Given the description of an element on the screen output the (x, y) to click on. 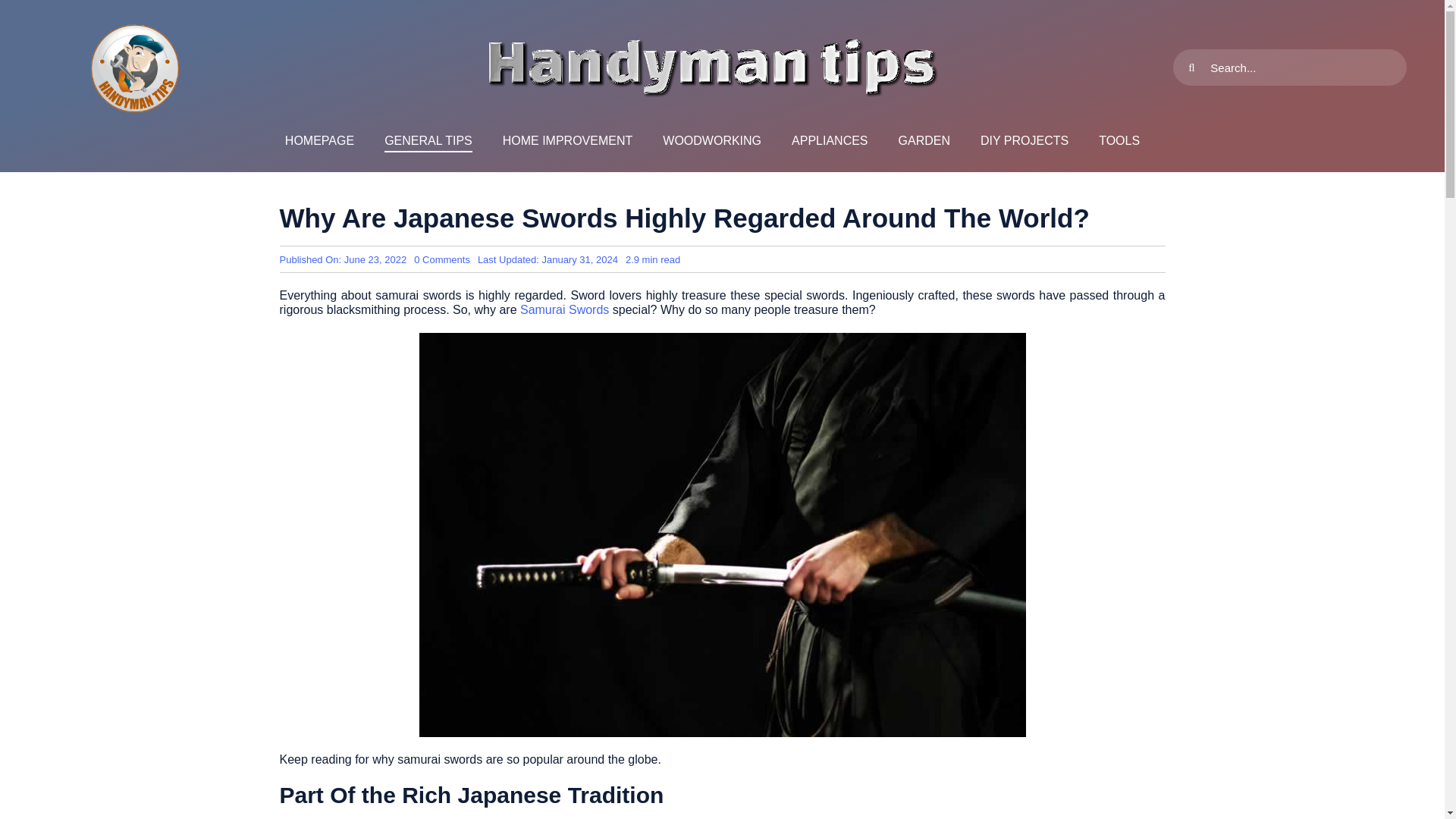
APPLIANCES (829, 141)
Handyman tips logo trans (134, 67)
GARDEN (924, 141)
GENERAL TIPS (427, 141)
WOODWORKING (711, 141)
HOMEPAGE (319, 141)
HOME IMPROVEMENT (567, 141)
DIY PROJECTS (1023, 141)
Samurai Swords (563, 309)
TOOLS (1119, 141)
handyman tips text (711, 67)
